Given the description of an element on the screen output the (x, y) to click on. 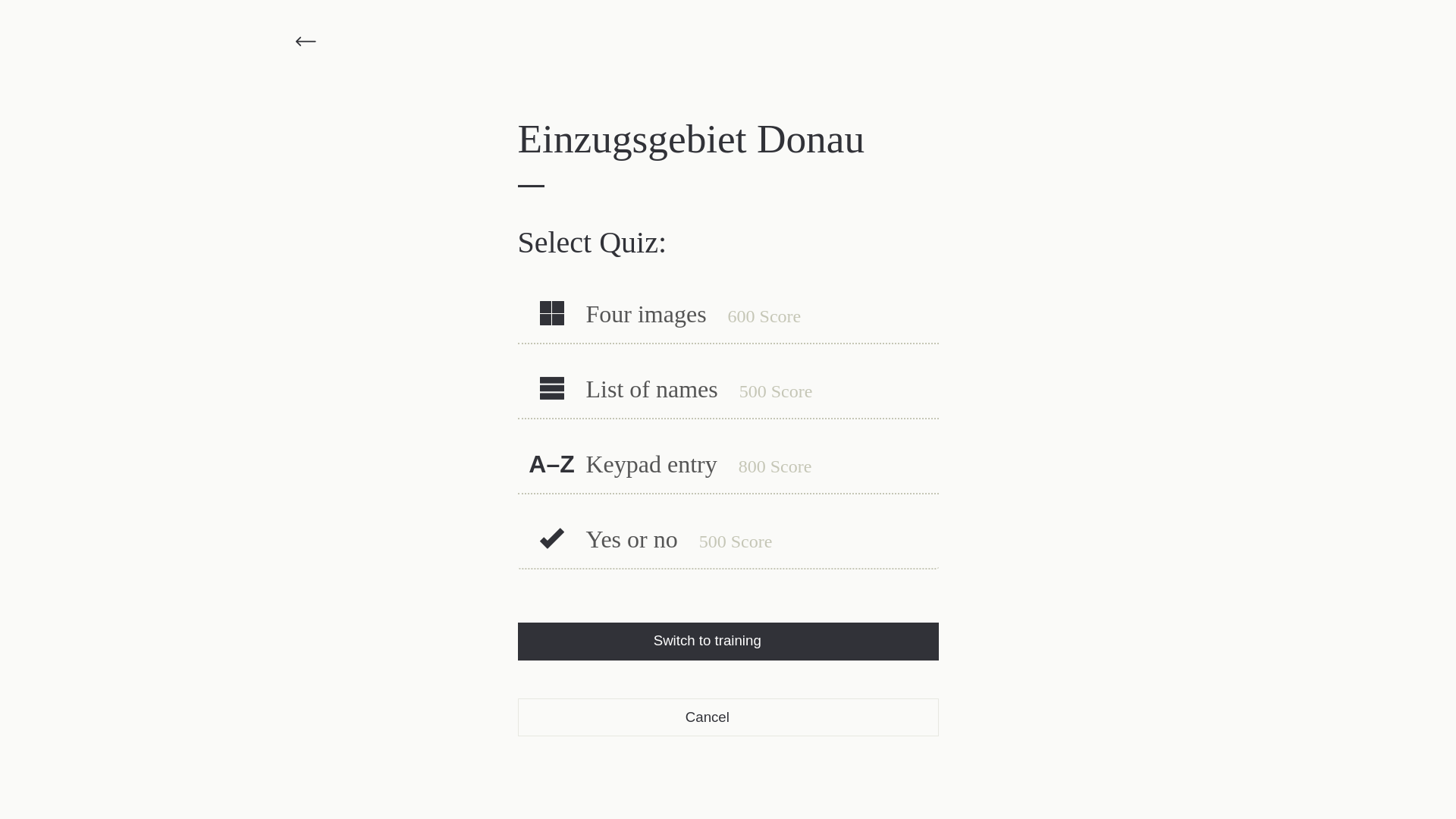
Switch to training Element type: text (707, 640)
List of names 500 Score Element type: text (727, 381)
Cancel Element type: text (706, 717)
Four images 600 Score Element type: text (727, 306)
Yes or no 500 Score Element type: text (727, 531)
